Given the description of an element on the screen output the (x, y) to click on. 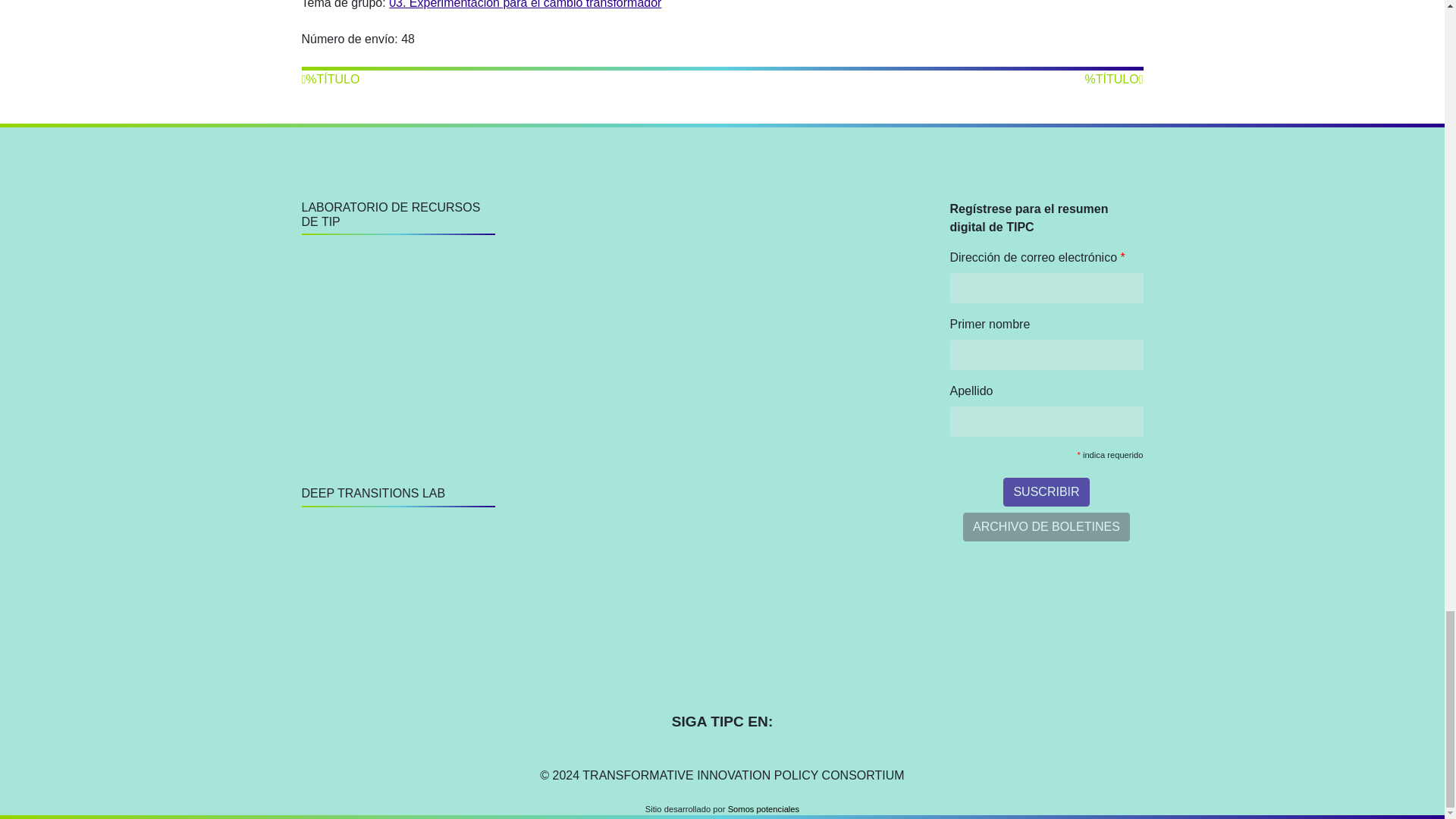
ARCHIVO DE BOLETINES (1045, 526)
ARCHIVO DE BOLETINES (1045, 526)
Suscribir (1046, 491)
Suscribir (1046, 491)
Somos potenciales (763, 809)
